Given the description of an element on the screen output the (x, y) to click on. 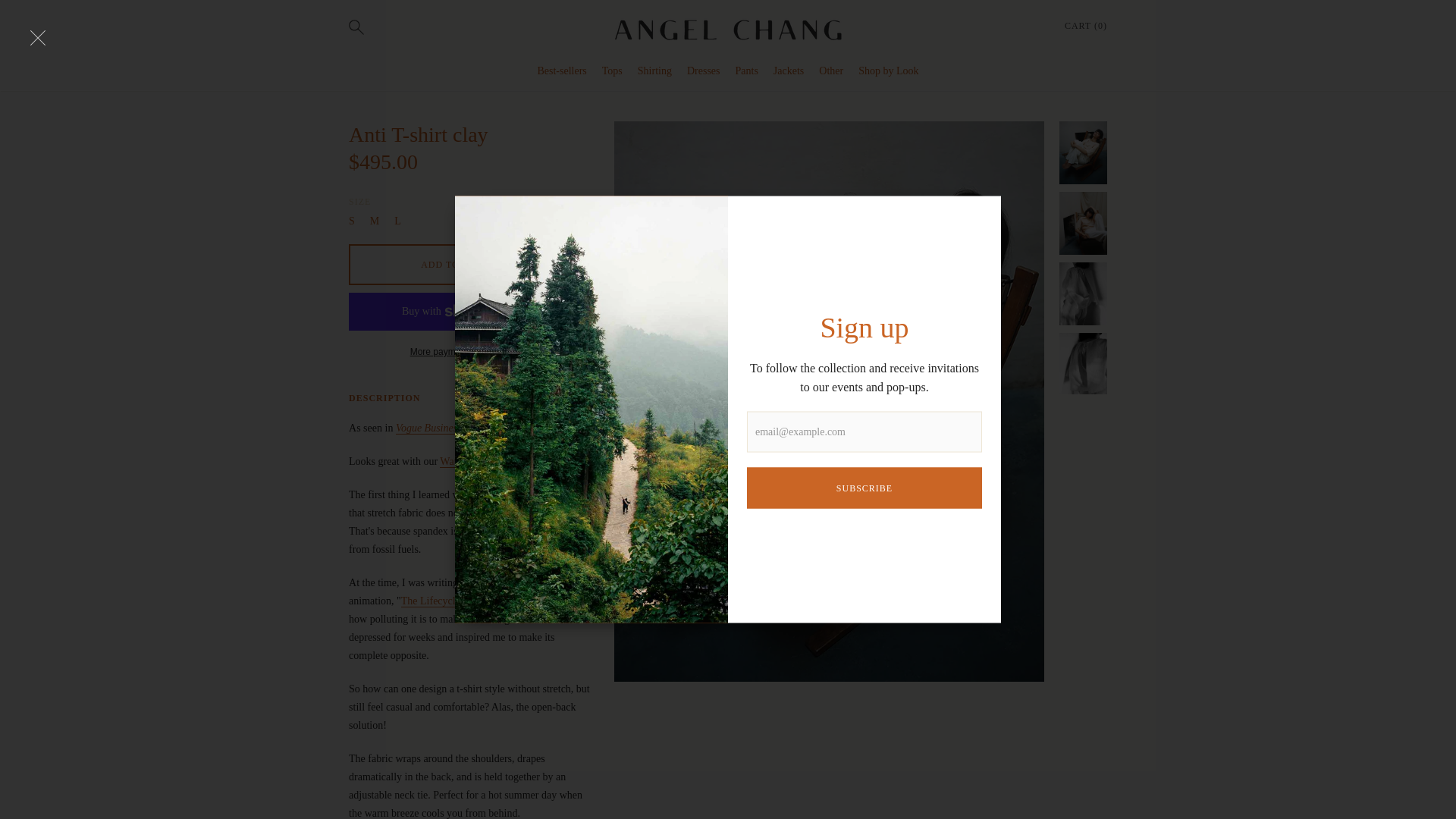
Shop by Look (888, 70)
Water Master Pants (480, 461)
Jackets (788, 70)
DESCRIPTION (384, 398)
Airmail (552, 428)
ADD TO CART (454, 264)
Angel Chang's Anti-shirt: Recommended (552, 428)
Tops (612, 70)
Pants (746, 70)
Dresses (703, 70)
More payment options (454, 351)
Water Master Pants (480, 461)
The Lifecycle of a T-shirt (455, 601)
Vogue Business (428, 428)
Other (830, 70)
